Given the description of an element on the screen output the (x, y) to click on. 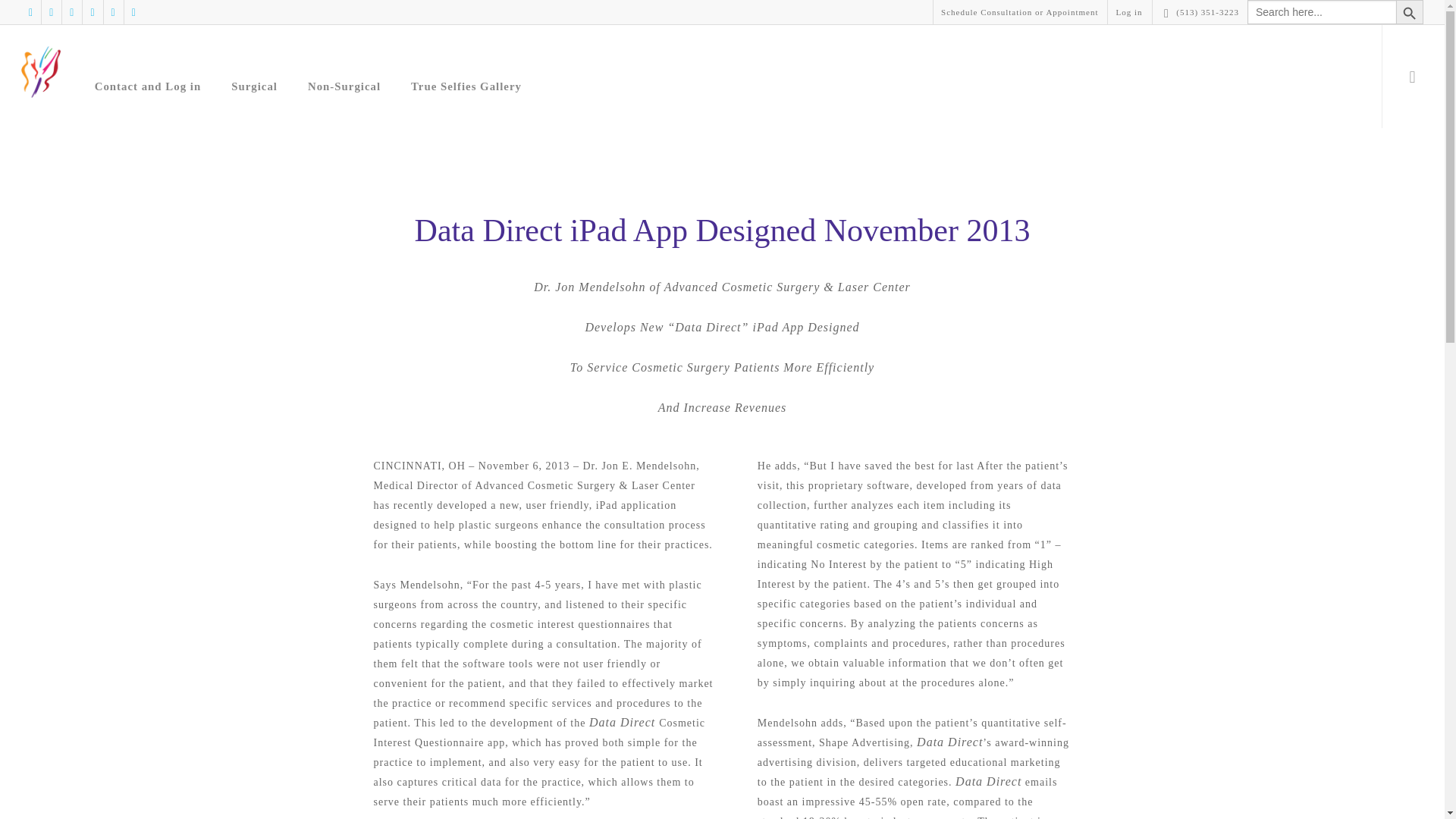
Contact and Log in (147, 86)
Schedule Consultation or Appointment (1019, 12)
Search Button (1409, 12)
Log in (1128, 12)
